Given the description of an element on the screen output the (x, y) to click on. 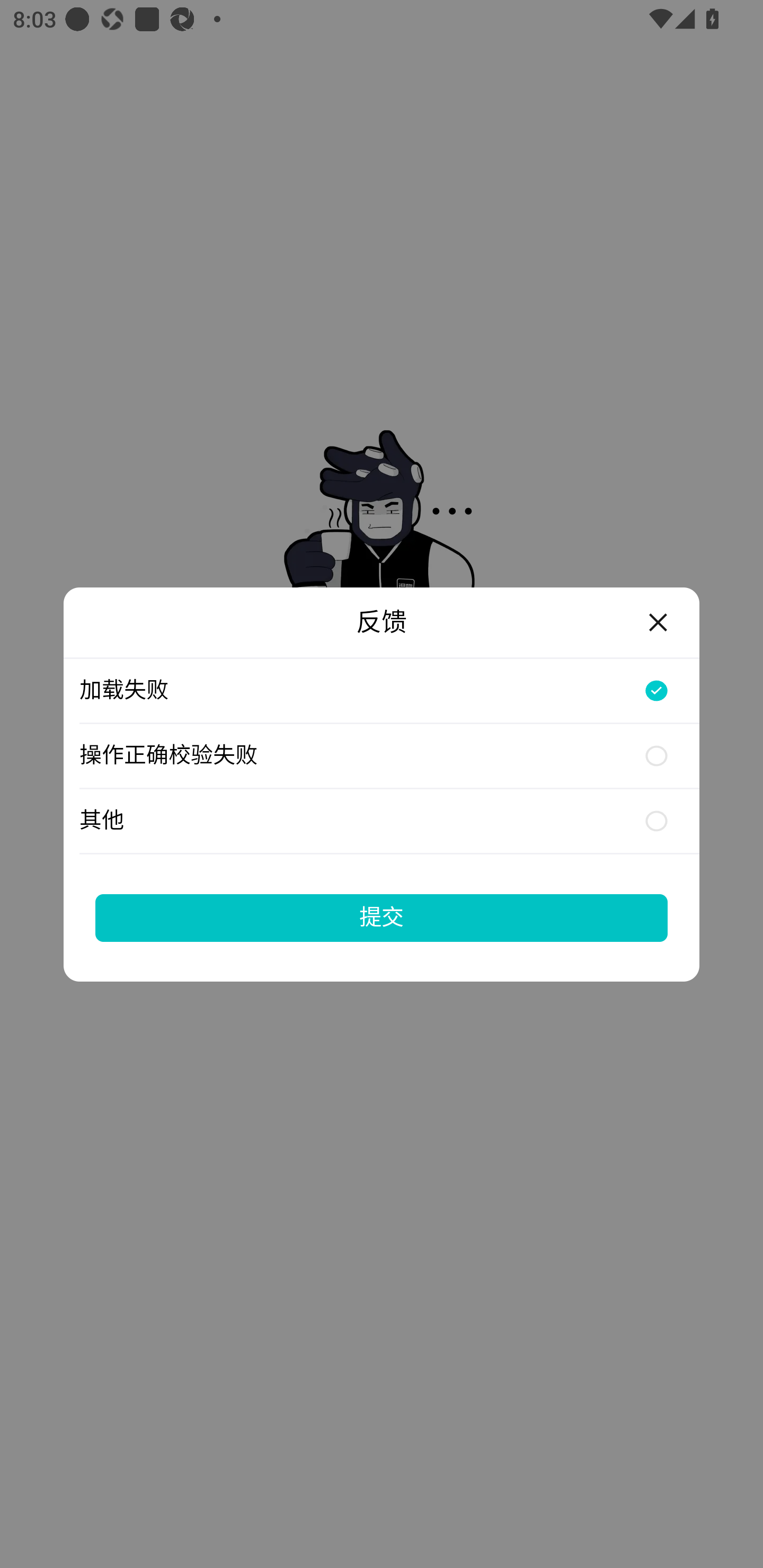
提交 (381, 917)
